Given the description of an element on the screen output the (x, y) to click on. 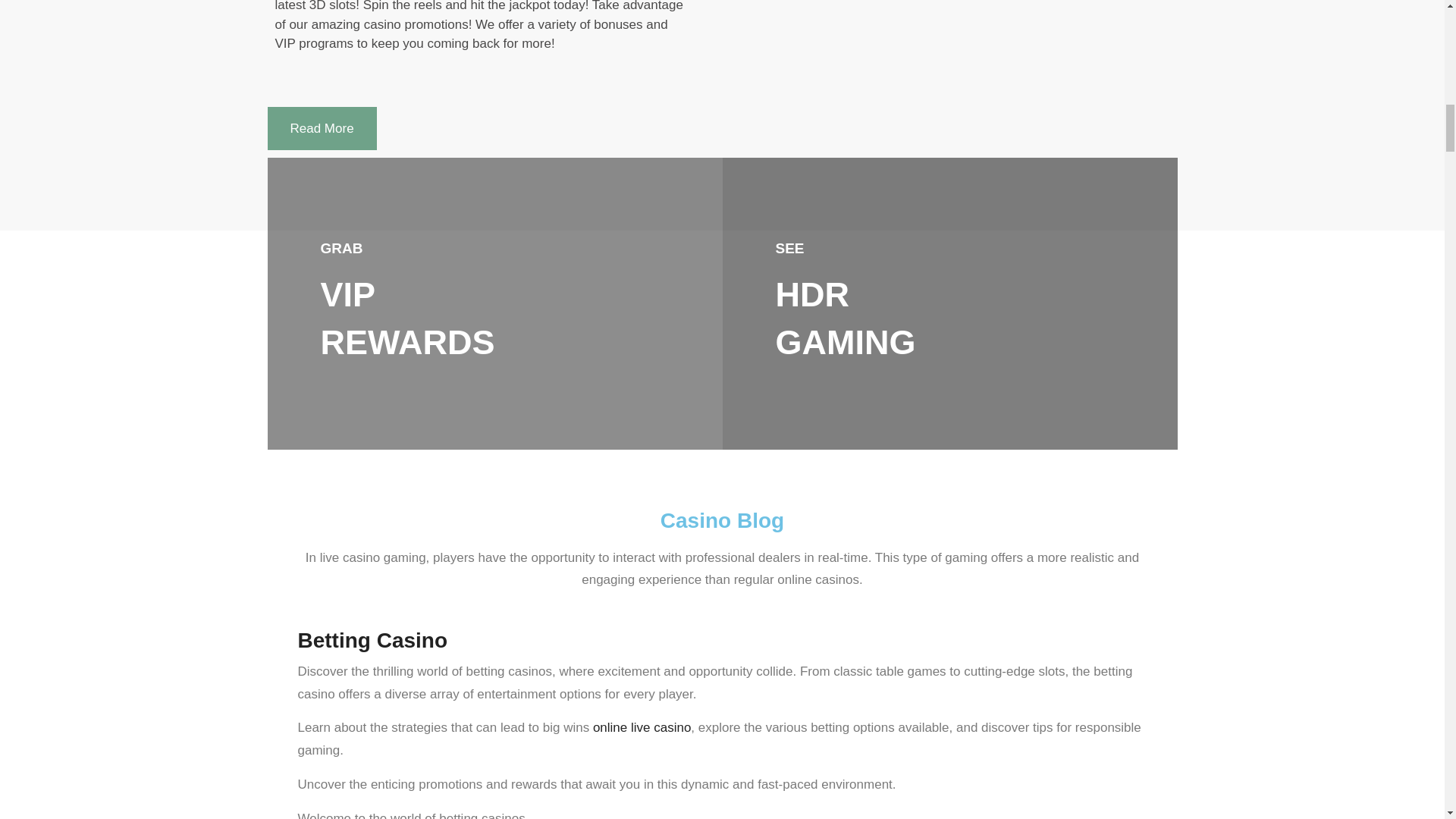
Betting Casino (371, 639)
Read More (320, 127)
online live casino (641, 727)
